Given the description of an element on the screen output the (x, y) to click on. 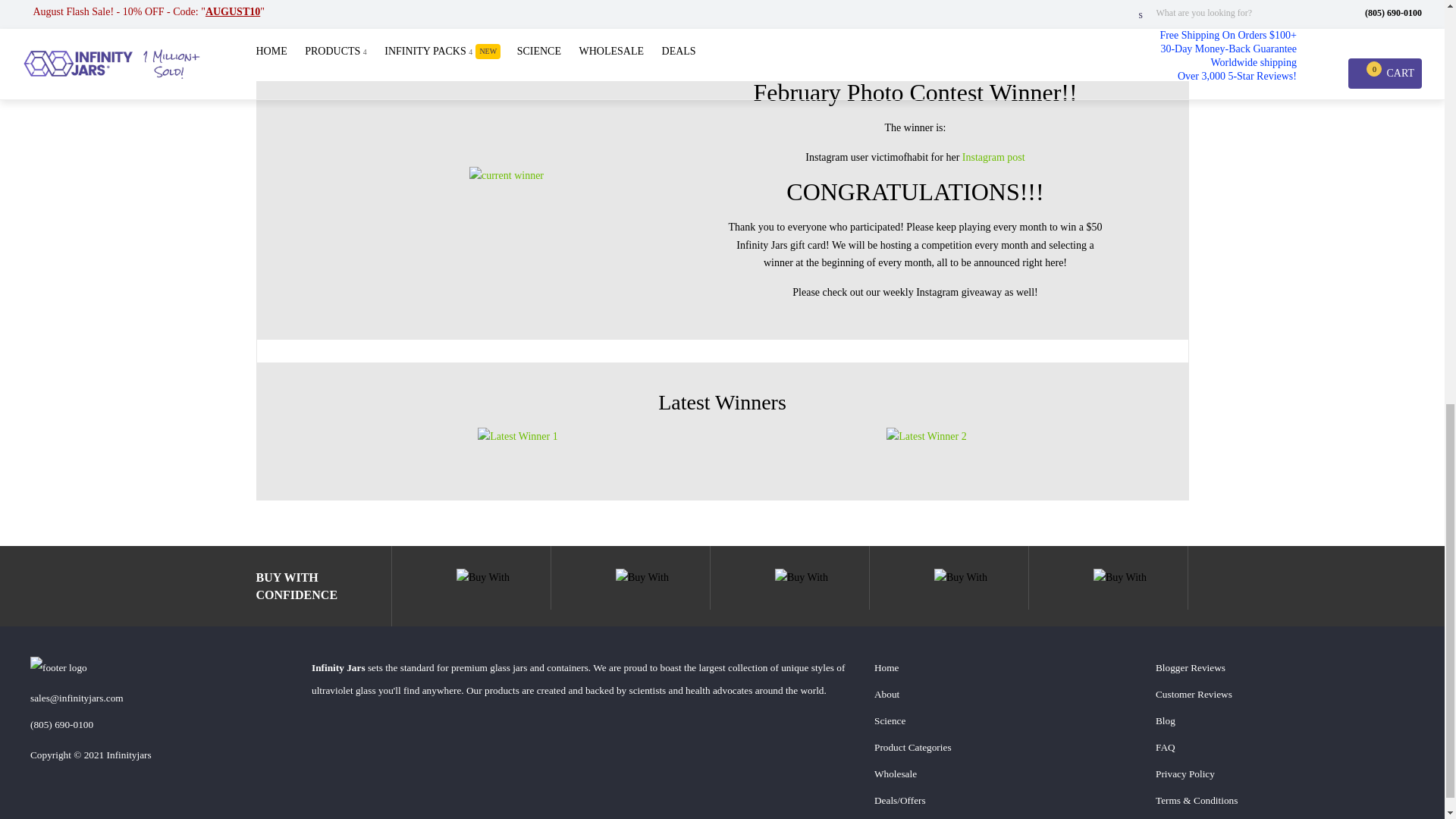
Infinity Jars on Instagram (408, 751)
Infinity Jars on Pinterest (366, 751)
Infinity Jars on YouTube (448, 751)
Infinity Jars on Facebook (326, 751)
